Given the description of an element on the screen output the (x, y) to click on. 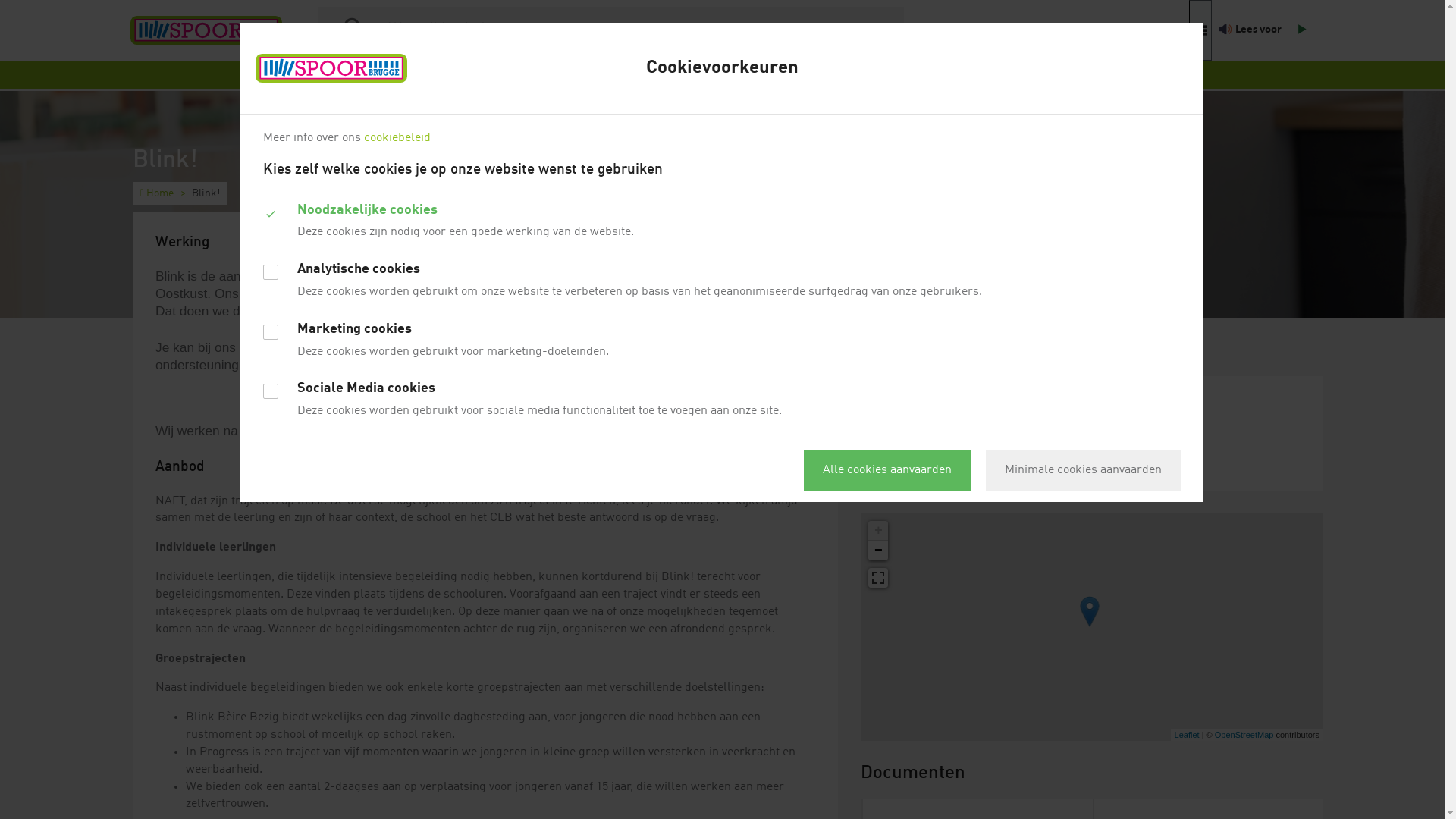
Home Element type: text (156, 193)
Alle cookies aanvaarden Element type: text (886, 470)
webReader menu Element type: hover (1200, 30)
View Fullscreen Element type: hover (878, 577)
info@blinkbrugge.be Element type: text (995, 448)
OVER ONS Element type: text (589, 74)
Minimale cookies aanvaarden Element type: text (1082, 470)
+ Element type: text (878, 530)
050 32 60 82 Element type: text (910, 448)
PARTNERS Element type: text (663, 74)
Blink! Element type: text (902, 405)
OpenStreetMap Element type: text (1244, 734)
cookiebeleid Element type: text (397, 137)
Leaflet Element type: text (1186, 734)
Lees voor Element type: text (1257, 30)
NIEUWS Element type: text (731, 74)
Ga naar de startpagina Element type: hover (206, 30)
CONTACT Element type: text (866, 74)
LOCATIES Element type: text (797, 74)
